Given the description of an element on the screen output the (x, y) to click on. 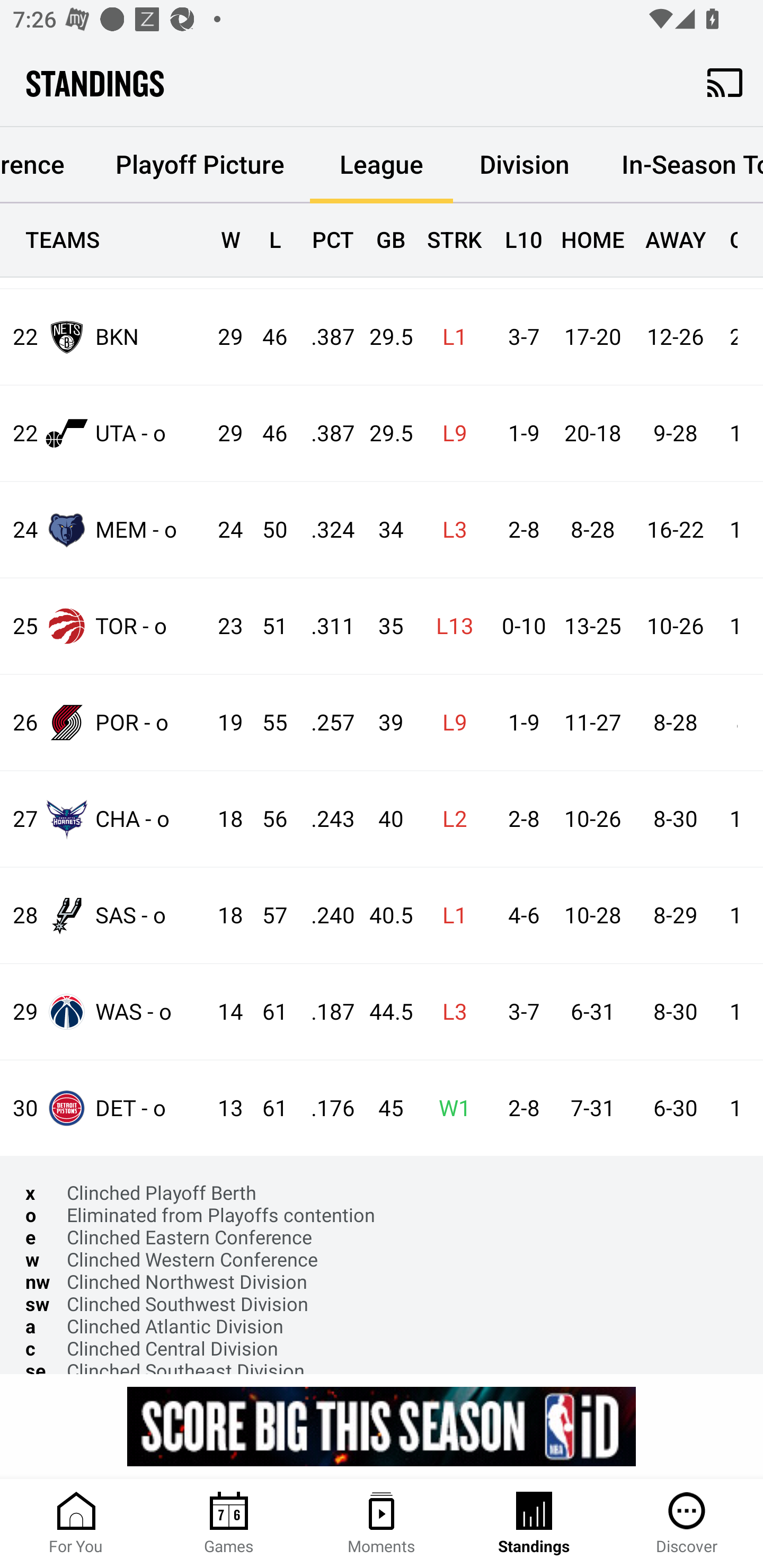
Cast. Disconnected (724, 82)
Conference (45, 159)
Playoff Picture (199, 164)
Division (524, 164)
In-Season Tournament (679, 164)
21 ATL (104, 245)
22 BKN (104, 336)
46 (265, 337)
.387 (323, 337)
29.5 (382, 337)
L1 (449, 337)
3-7 (518, 337)
17-20 (592, 337)
12-26 (675, 337)
22 UTA - o (104, 433)
46 (265, 433)
.387 (323, 433)
29.5 (382, 433)
L9 (449, 433)
1-9 (518, 433)
20-18 (592, 433)
9-28 (675, 433)
24 MEM - o (104, 529)
50 (265, 529)
.324 (323, 529)
34 (382, 529)
L3 (449, 529)
2-8 (518, 529)
8-28 (592, 529)
16-22 (675, 529)
25 TOR - o (104, 626)
51 (265, 626)
.311 (323, 626)
35 (382, 626)
L13 (449, 626)
0-10 (518, 626)
13-25 (592, 626)
10-26 (675, 626)
26 POR - o (104, 721)
55 (265, 722)
.257 (323, 722)
39 (382, 722)
L9 (449, 722)
1-9 (518, 722)
11-27 (592, 722)
8-28 (675, 722)
27 CHA - o (104, 819)
56 (265, 818)
.243 (323, 818)
40 (382, 818)
L2 (449, 818)
2-8 (518, 818)
10-26 (592, 818)
8-30 (675, 818)
28 SAS - o (104, 914)
57 (265, 915)
.240 (323, 915)
40.5 (382, 915)
L1 (449, 915)
4-6 (518, 915)
10-28 (592, 915)
8-29 (675, 915)
29 WAS - o (104, 1011)
61 (265, 1011)
.187 (323, 1011)
44.5 (382, 1011)
L3 (449, 1011)
3-7 (518, 1011)
6-31 (592, 1011)
8-30 (675, 1011)
30 DET - o (104, 1107)
61 (265, 1108)
.176 (323, 1108)
45 (382, 1108)
W1 (449, 1108)
2-8 (518, 1108)
7-31 (592, 1108)
6-30 (675, 1108)
g5nqqygr7owph (381, 1426)
For You (76, 1523)
Games (228, 1523)
Moments (381, 1523)
Discover (686, 1523)
